Given the description of an element on the screen output the (x, y) to click on. 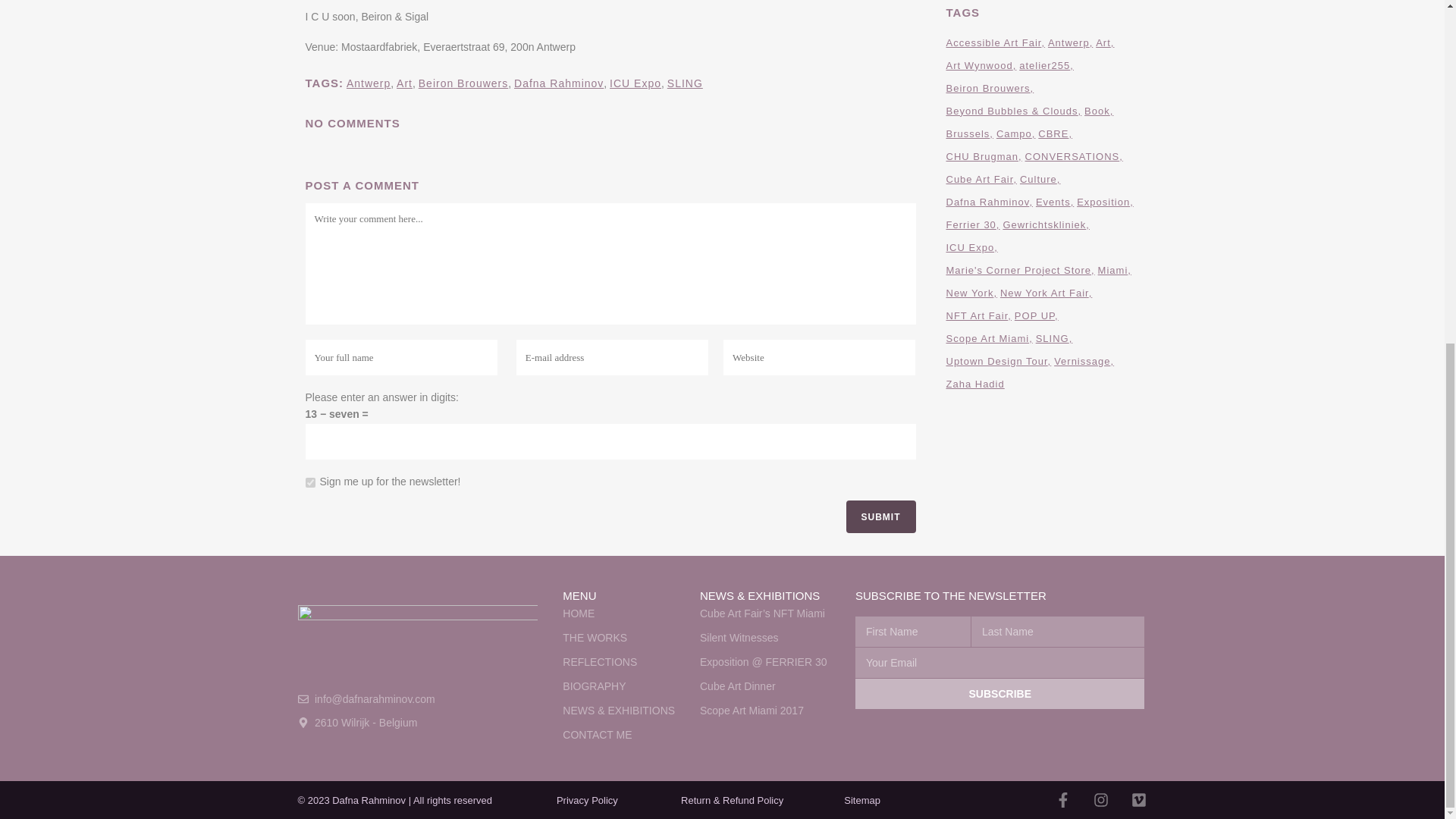
Submit (880, 516)
Antwerp (368, 82)
ICU Expo (635, 82)
Art (404, 82)
Dafna Rahminov (558, 82)
1 (309, 482)
Beiron Brouwers (463, 82)
